Given the description of an element on the screen output the (x, y) to click on. 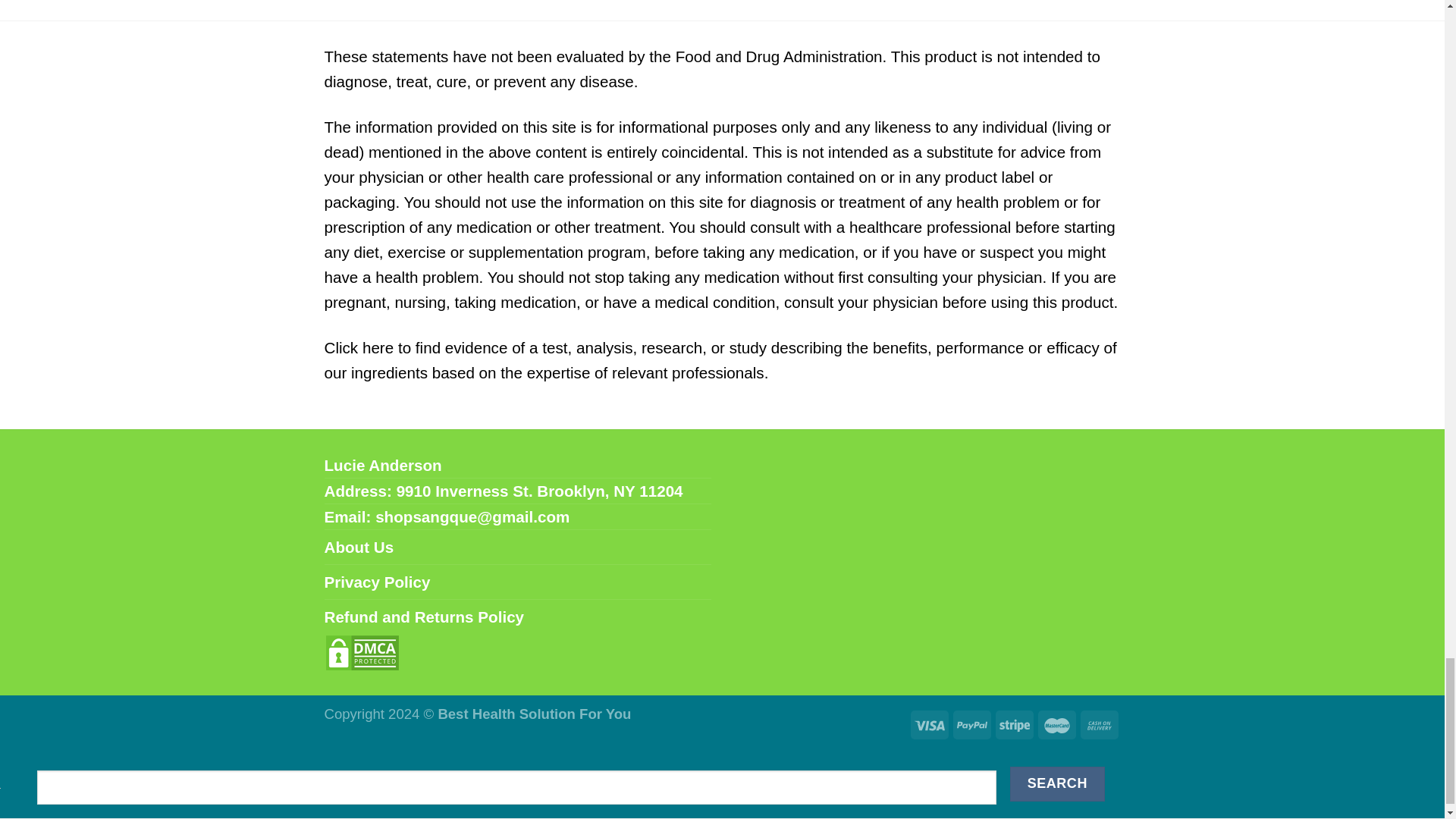
Search (1056, 783)
About Us (359, 546)
